Given the description of an element on the screen output the (x, y) to click on. 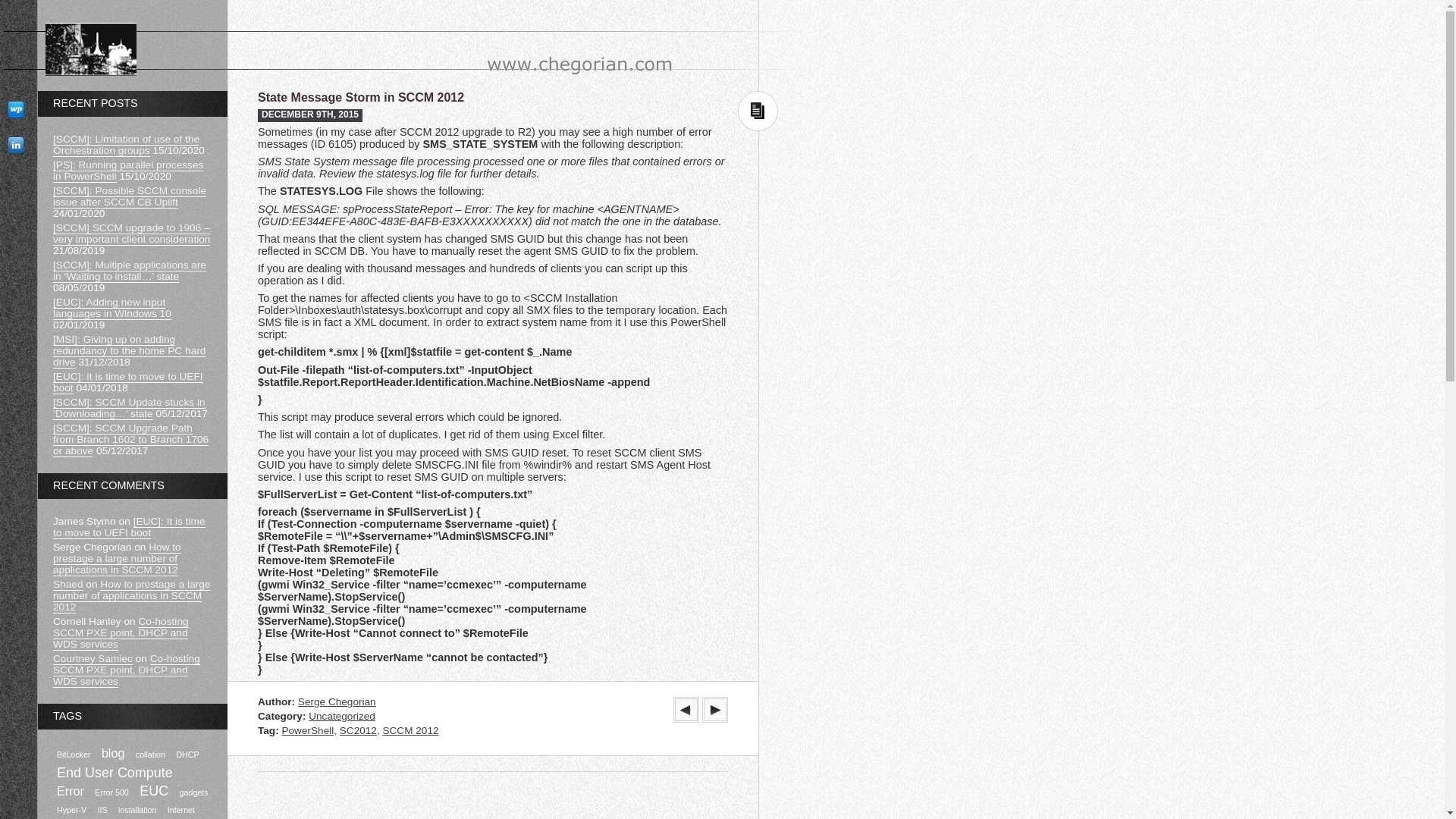
gadgets Element type: text (193, 793)
DHCP Element type: text (187, 755)
Error Element type: text (70, 791)
SCCM 2012 Element type: text (410, 730)
How to prestage a large number of applications in SCCM 2012 Element type: text (117, 558)
BitLocker Element type: text (73, 755)
Serge Chegorian Element type: text (337, 701)
Shaed Element type: text (68, 584)
[EUC]: It is time to move to UEFI boot Element type: text (128, 382)
Linkedin Element type: hover (18, 144)
Error 500 Element type: text (111, 793)
[EUC]: It is time to move to UEFI boot Element type: text (129, 527)
Uncategorized Element type: text (341, 715)
Design by WPlook Element type: hover (18, 108)
Co-hosting SCCM PXE point, DHCP and WDS services Element type: text (120, 632)
PowerShell Element type: text (307, 730)
[PS]: Running parallel processes in PowerShell Element type: text (128, 170)
Serge Chegorian's System Center Blog Element type: text (301, 122)
Courtney Samiec Element type: text (92, 658)
blog Element type: text (112, 753)
End User Compute Element type: text (114, 773)
EUC Element type: text (153, 791)
[SCCM]: Possible SCCM console issue after SCCM CB Uplift Element type: text (129, 196)
Co-hosting SCCM PXE point, DHCP and WDS services Element type: text (126, 669)
[SCCM]: Limitation of use of the Orchestration groups Element type: text (126, 144)
How to prestage a large number of applications in SCCM 2012 Element type: text (131, 595)
SC2012 Element type: text (357, 730)
[EUC]: Adding new input languages in Windows 10 Element type: text (112, 308)
collation Element type: text (150, 755)
